Given the description of an element on the screen output the (x, y) to click on. 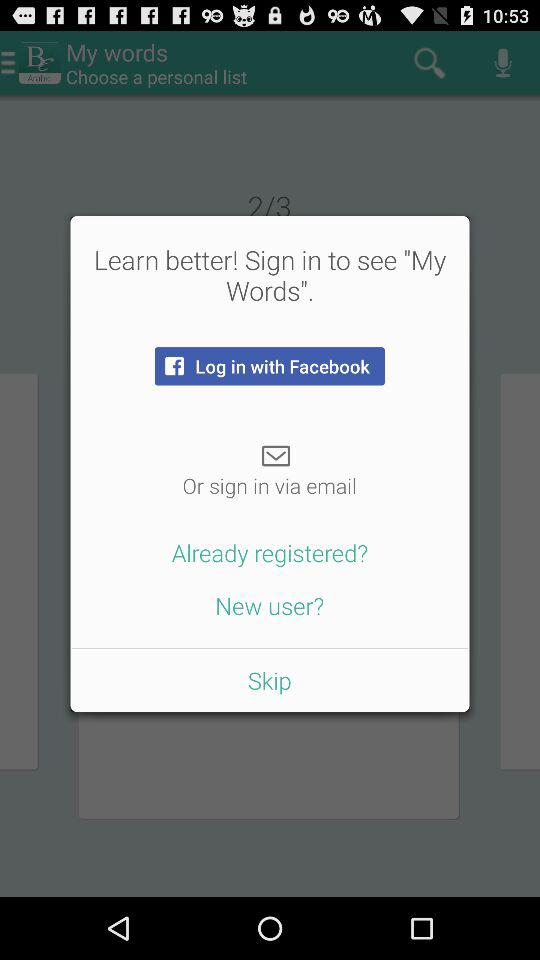
launch icon above ~ (269, 366)
